Given the description of an element on the screen output the (x, y) to click on. 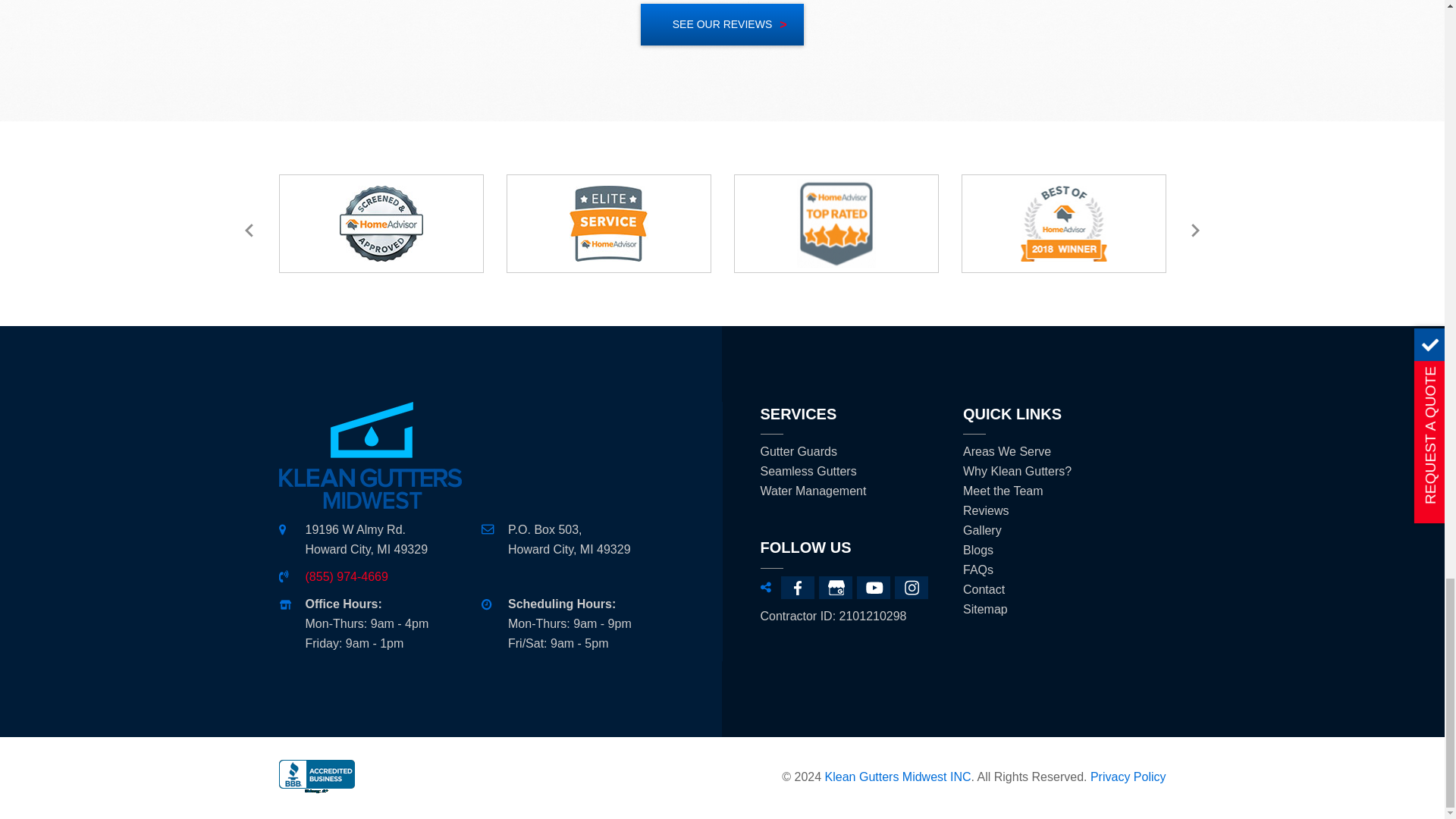
Best Of HomeAdvisor 2018 Winner (1063, 223)
Elite Service HomeAdvisor (608, 223)
HomeAdvisor Screened and Approved (381, 223)
